Given the description of an element on the screen output the (x, y) to click on. 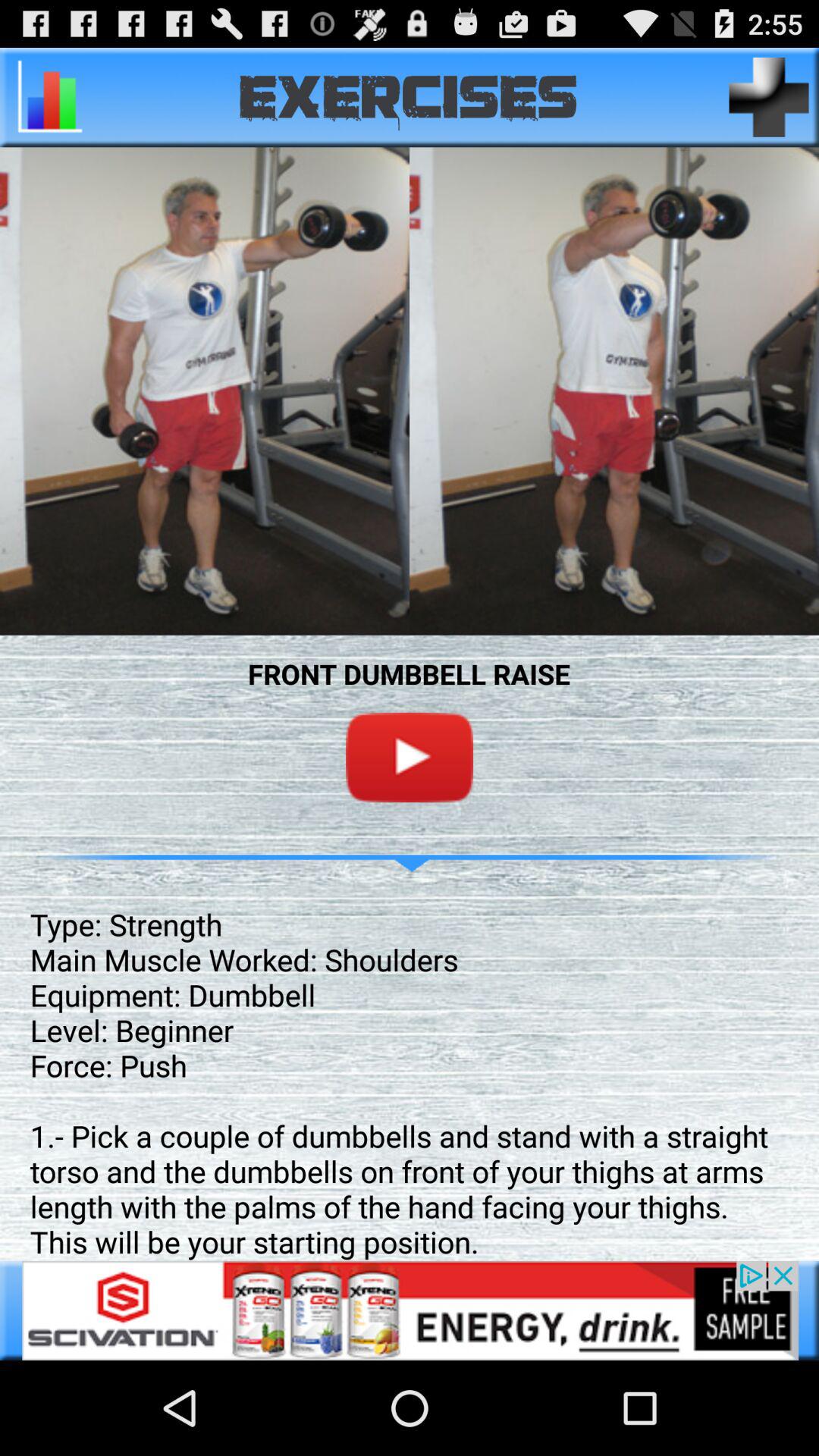
youtube button (409, 757)
